Given the description of an element on the screen output the (x, y) to click on. 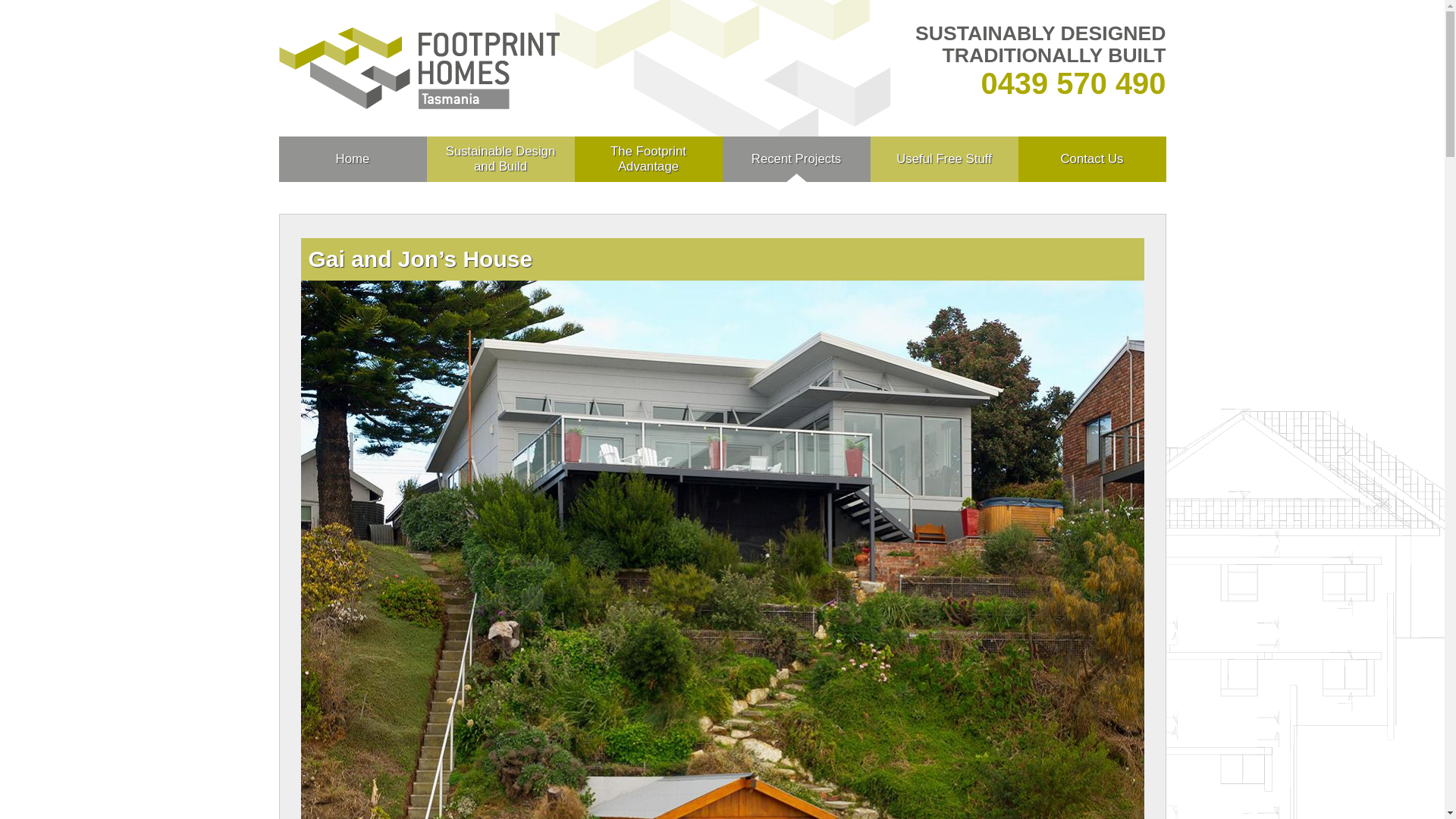
Sustainable Design and Build Element type: text (500, 159)
Contact Us Element type: text (1091, 159)
Useful Free Stuff Element type: text (944, 159)
Footprint Homes Tasmania Element type: hover (419, 67)
Home Element type: text (352, 159)
Footprint Homes Tasmania Element type: hover (419, 68)
Recent Projects Element type: text (795, 159)
The Footprint Advantage Element type: text (648, 159)
